Given the description of an element on the screen output the (x, y) to click on. 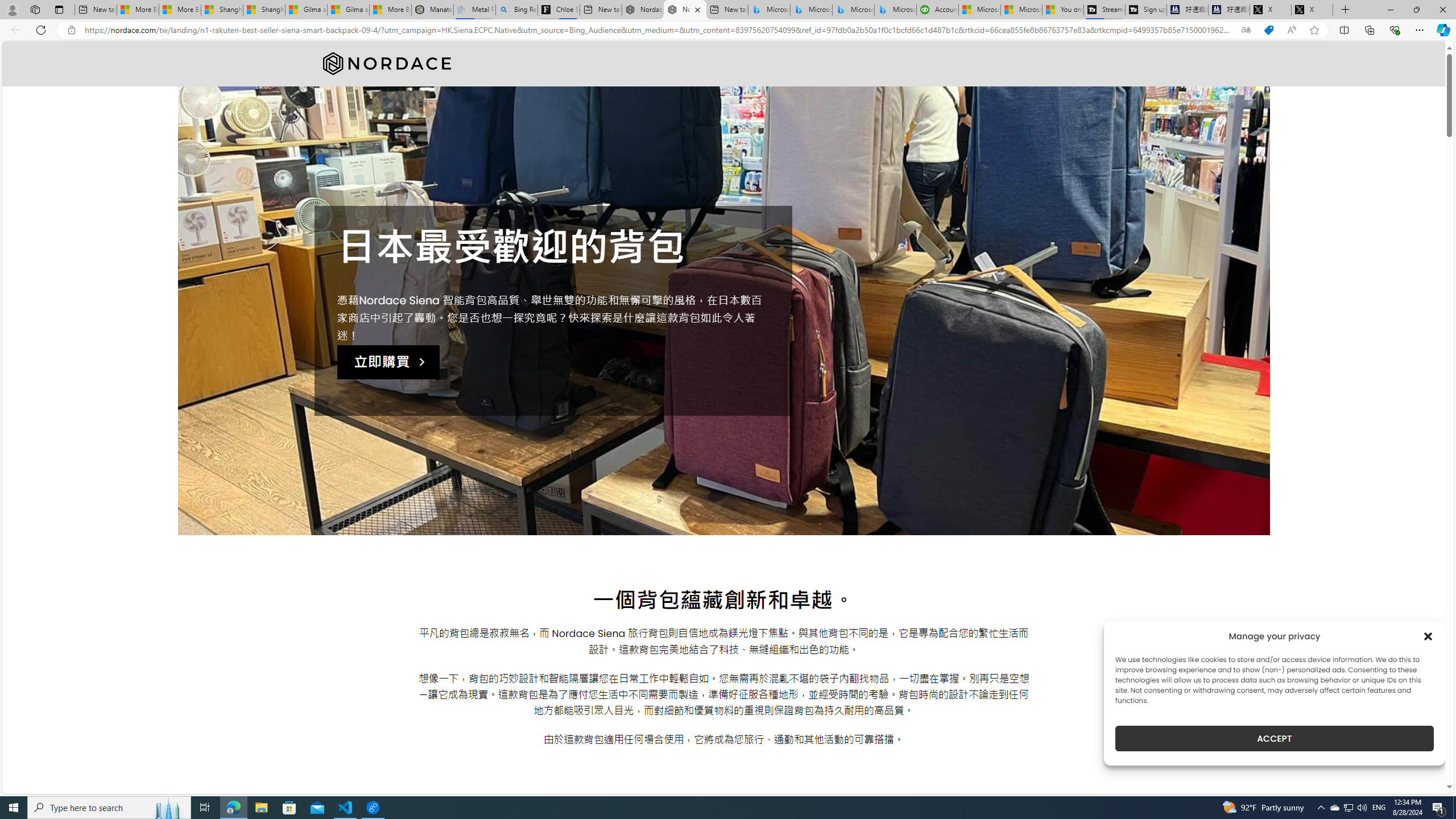
Personal Profile (12, 9)
Add this page to favorites (Ctrl+D) (1314, 29)
Workspaces (34, 9)
Split screen (1344, 29)
Shanghai, China weather forecast | Microsoft Weather (263, 9)
Restore (1416, 9)
Nordace (386, 63)
Microsoft Start (1020, 9)
Address and search bar (658, 29)
ACCEPT (1274, 738)
This site has coupons! Shopping in Microsoft Edge (1268, 29)
New tab (726, 9)
Browser essentials (1394, 29)
App bar (728, 29)
